Given the description of an element on the screen output the (x, y) to click on. 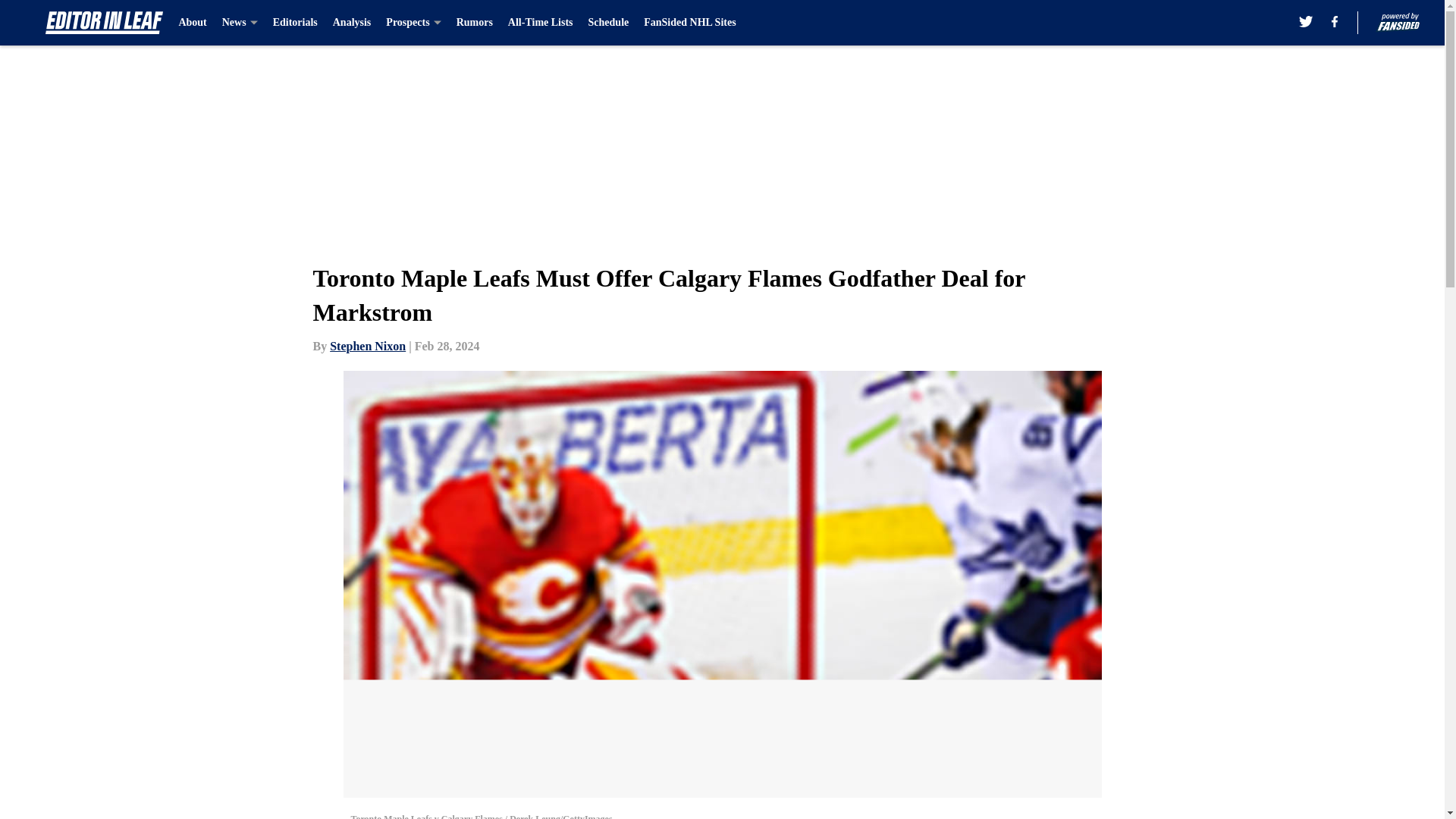
Rumors (475, 22)
About (191, 22)
Editorials (295, 22)
FanSided NHL Sites (689, 22)
Stephen Nixon (368, 345)
Schedule (608, 22)
Analysis (352, 22)
All-Time Lists (540, 22)
